Given the description of an element on the screen output the (x, y) to click on. 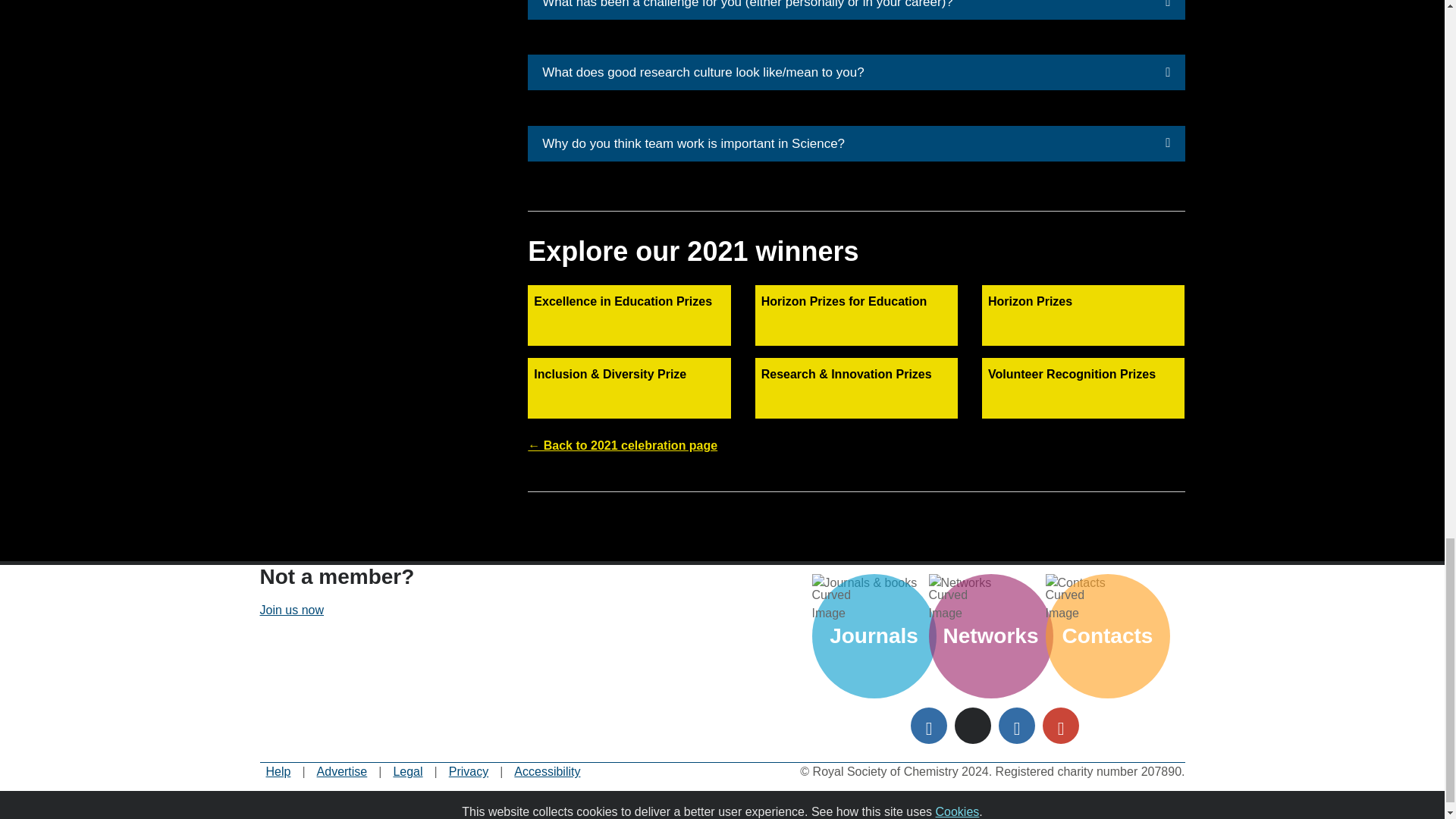
Contacts (1107, 583)
Accessibility statement (546, 771)
Frequently asked questions (276, 771)
Networks (990, 583)
